Given the description of an element on the screen output the (x, y) to click on. 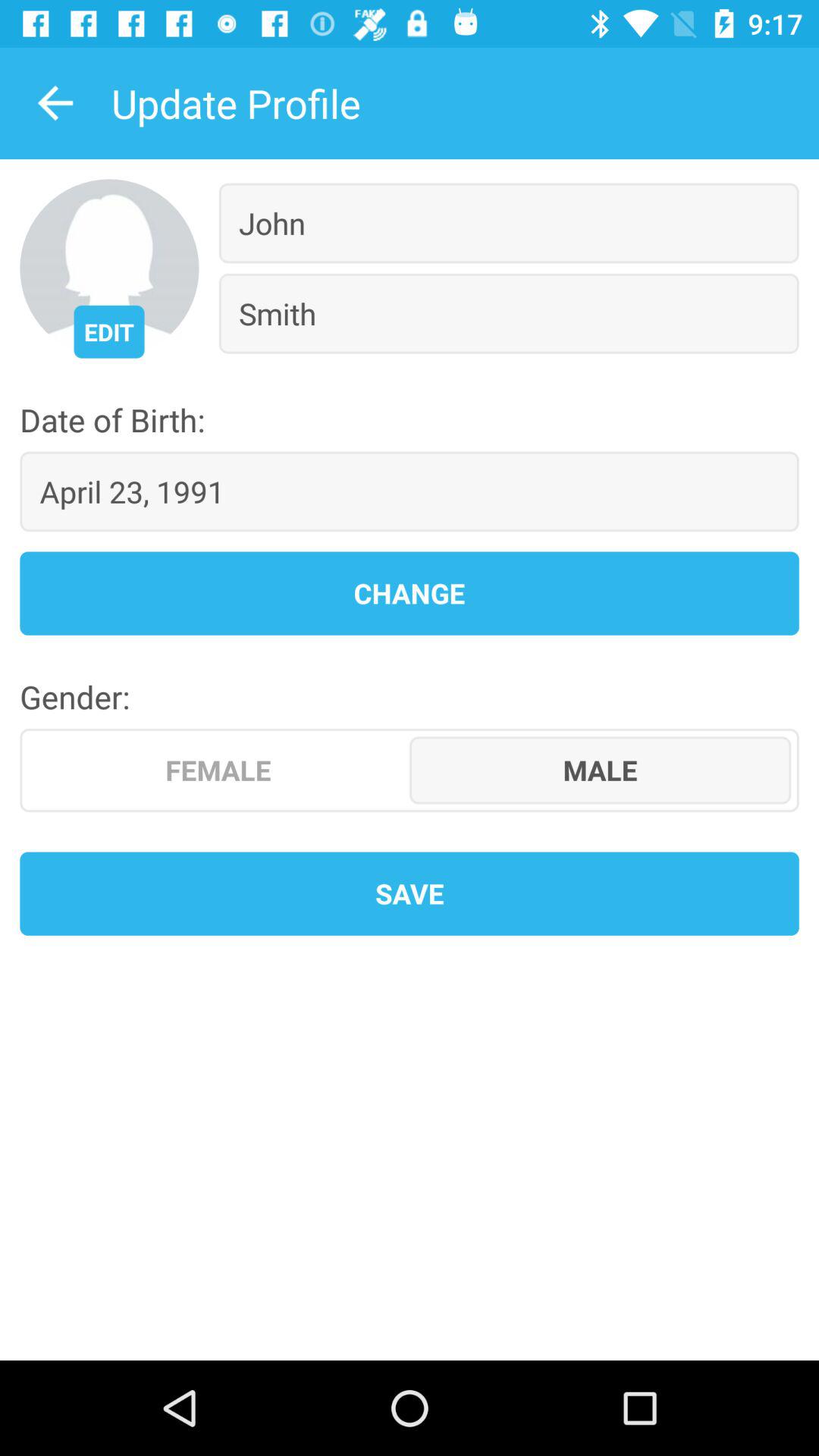
turn on the item to the right of female icon (600, 770)
